Given the description of an element on the screen output the (x, y) to click on. 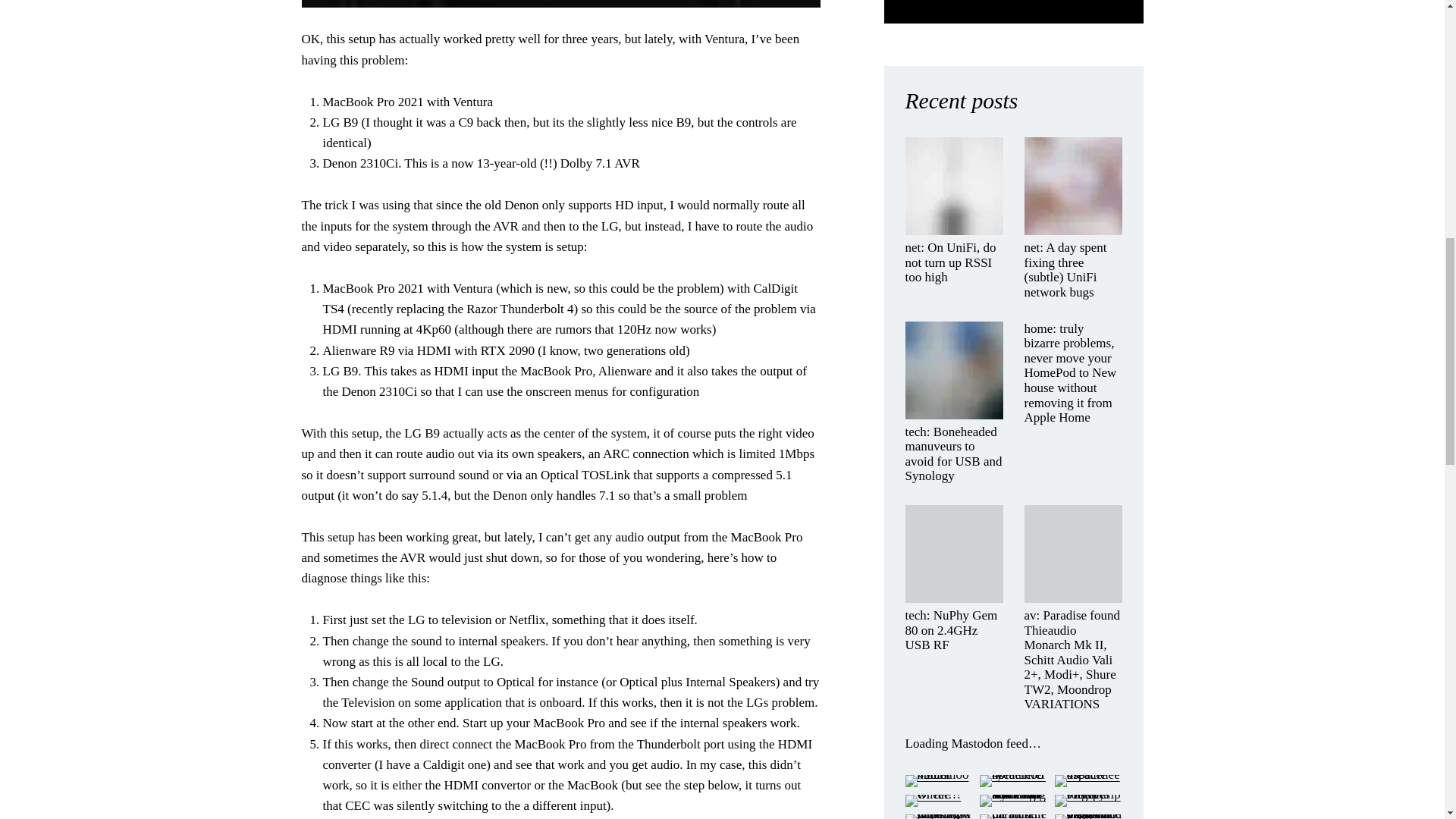
tech: Boneheaded manuveurs to avoid for USB and Synology (954, 454)
net: On UniFi, do not turn up RSSI too high (954, 262)
